Given the description of an element on the screen output the (x, y) to click on. 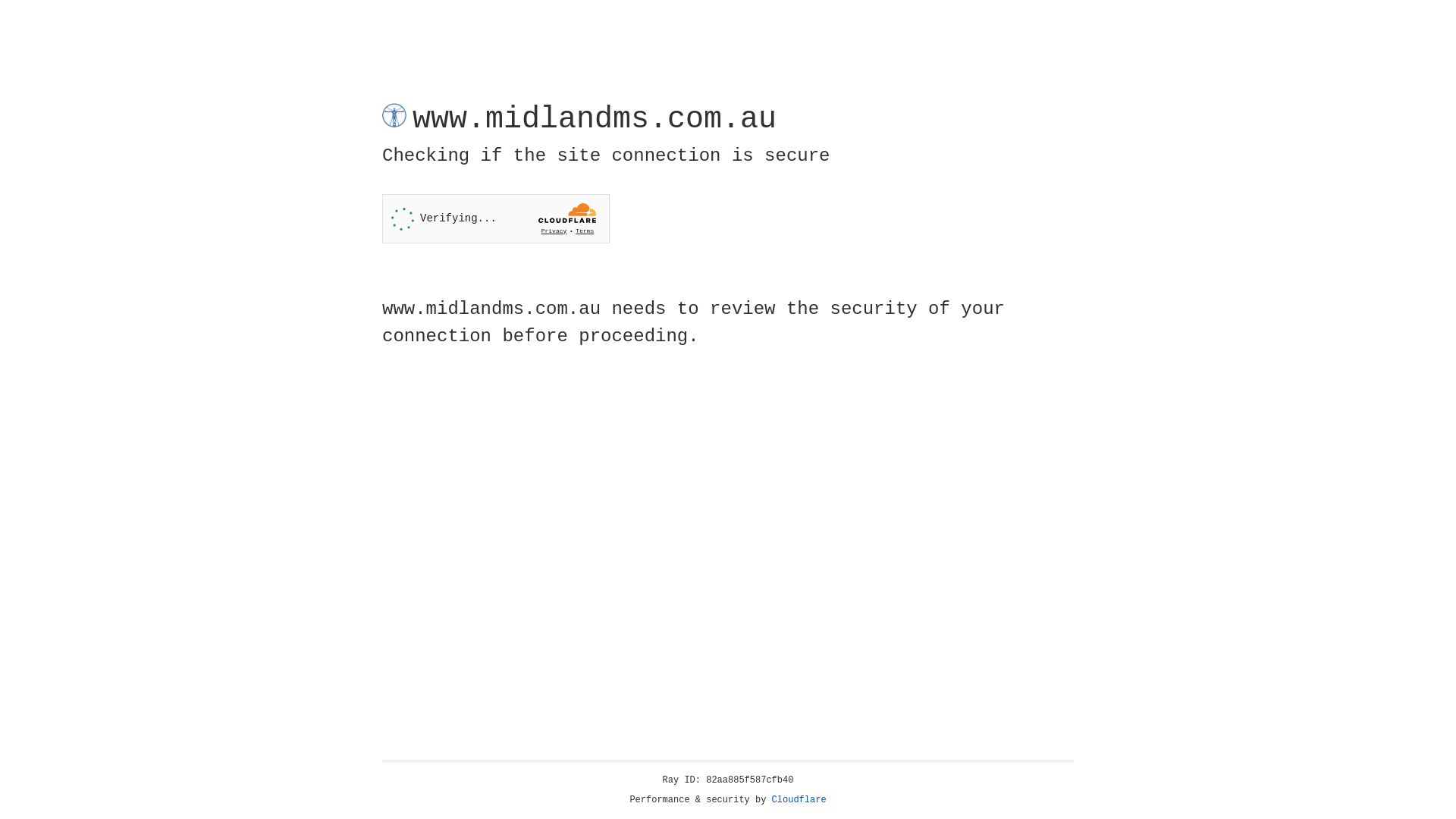
Cloudflare Element type: text (798, 799)
Widget containing a Cloudflare security challenge Element type: hover (495, 218)
